Given the description of an element on the screen output the (x, y) to click on. 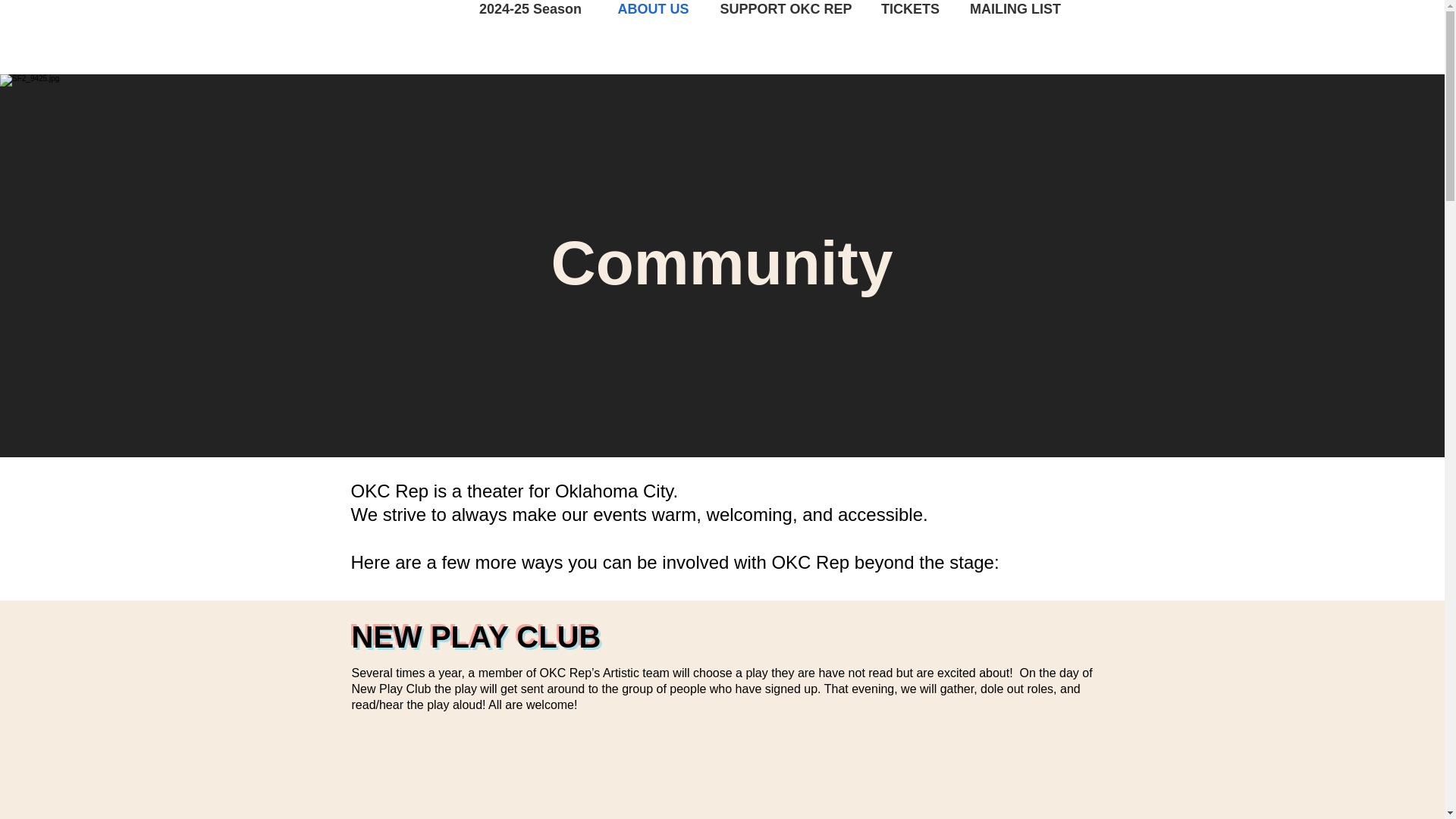
SUPPORT OKC REP (786, 37)
TICKETS (910, 37)
MAILING LIST (1015, 37)
2024-25 Season (530, 37)
ABOUT US (652, 37)
